Given the description of an element on the screen output the (x, y) to click on. 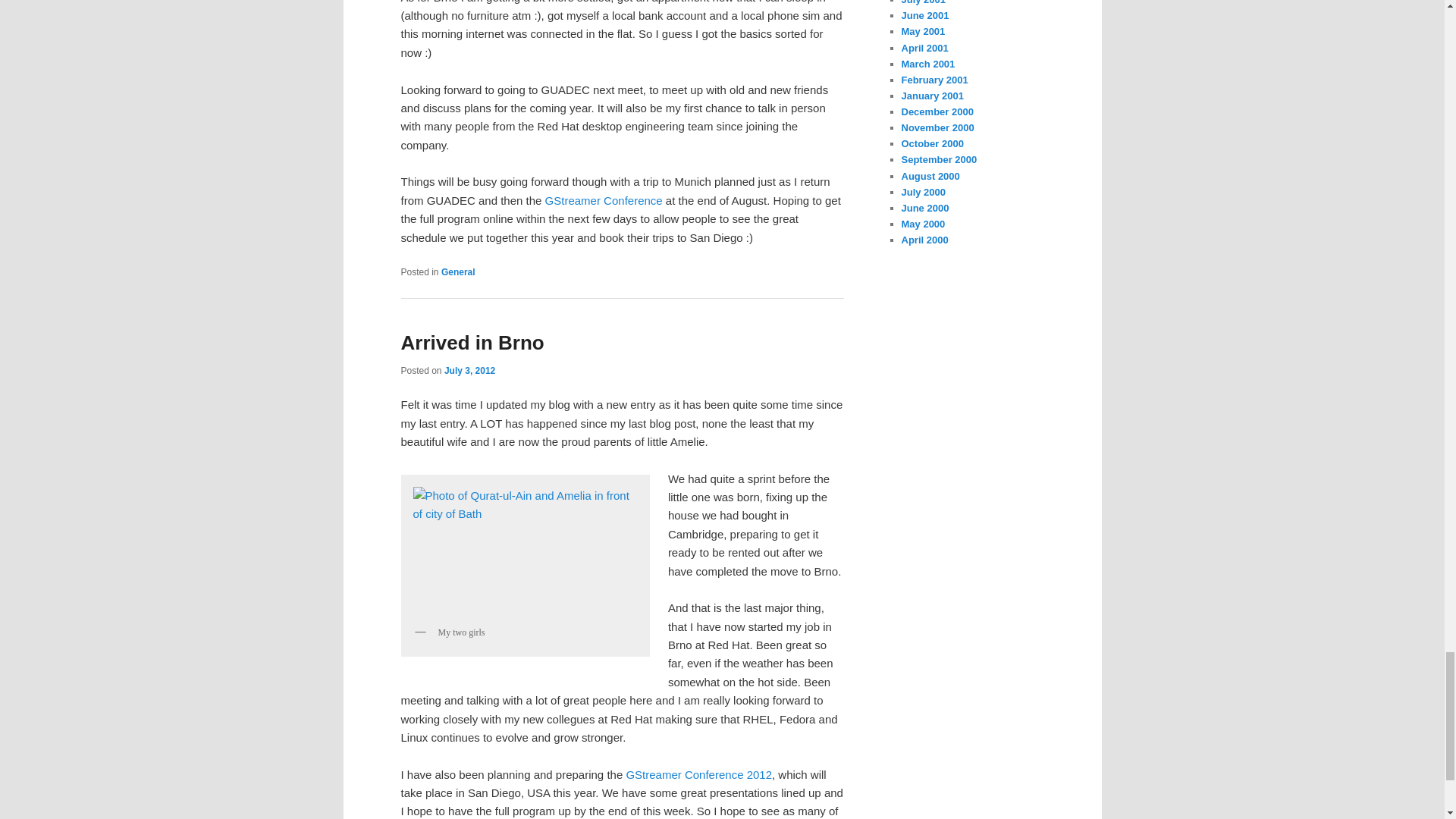
12:29 (469, 370)
